Given the description of an element on the screen output the (x, y) to click on. 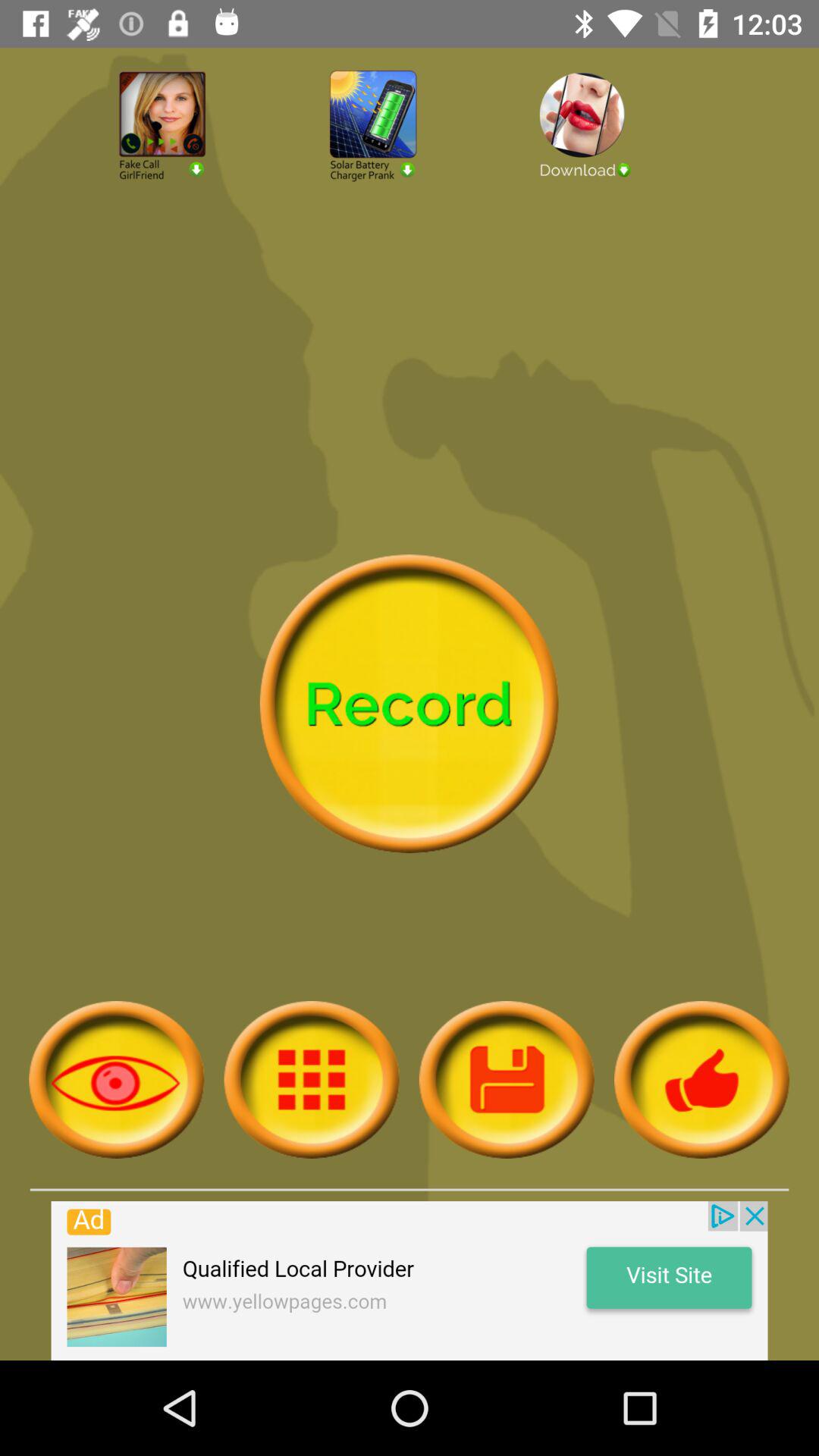
menu (506, 1079)
